Given the description of an element on the screen output the (x, y) to click on. 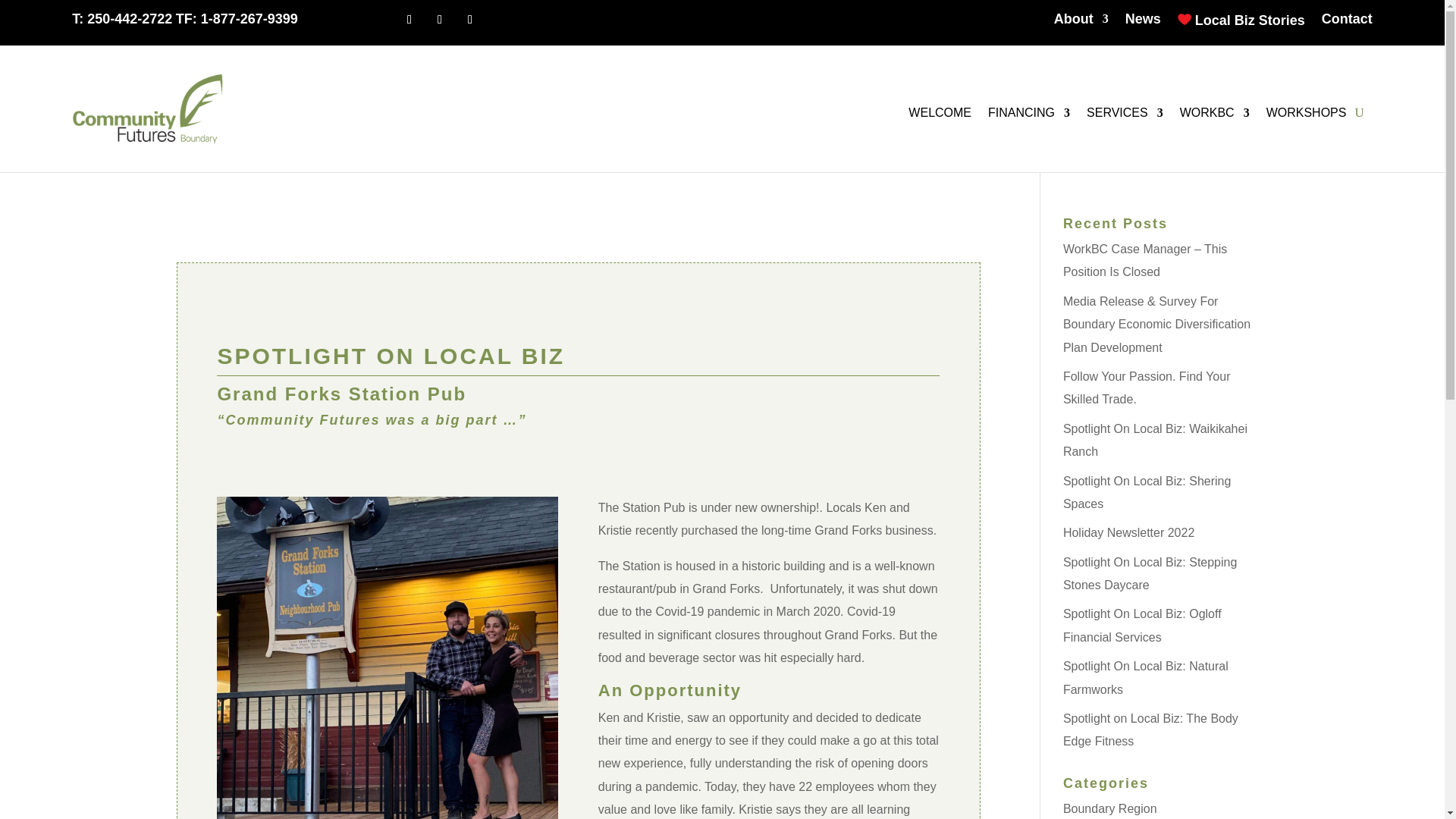
Follow on Facebook (409, 19)
Follow on Instagram (469, 19)
T: 250-442-2722 (121, 18)
Local Biz Stories (1240, 22)
News (1142, 22)
About (1081, 22)
SERVICES (1124, 115)
Follow on X (439, 19)
TF: 1-877-267-9399 (237, 18)
Grand Forks Station Pub 1 (386, 657)
